Given the description of an element on the screen output the (x, y) to click on. 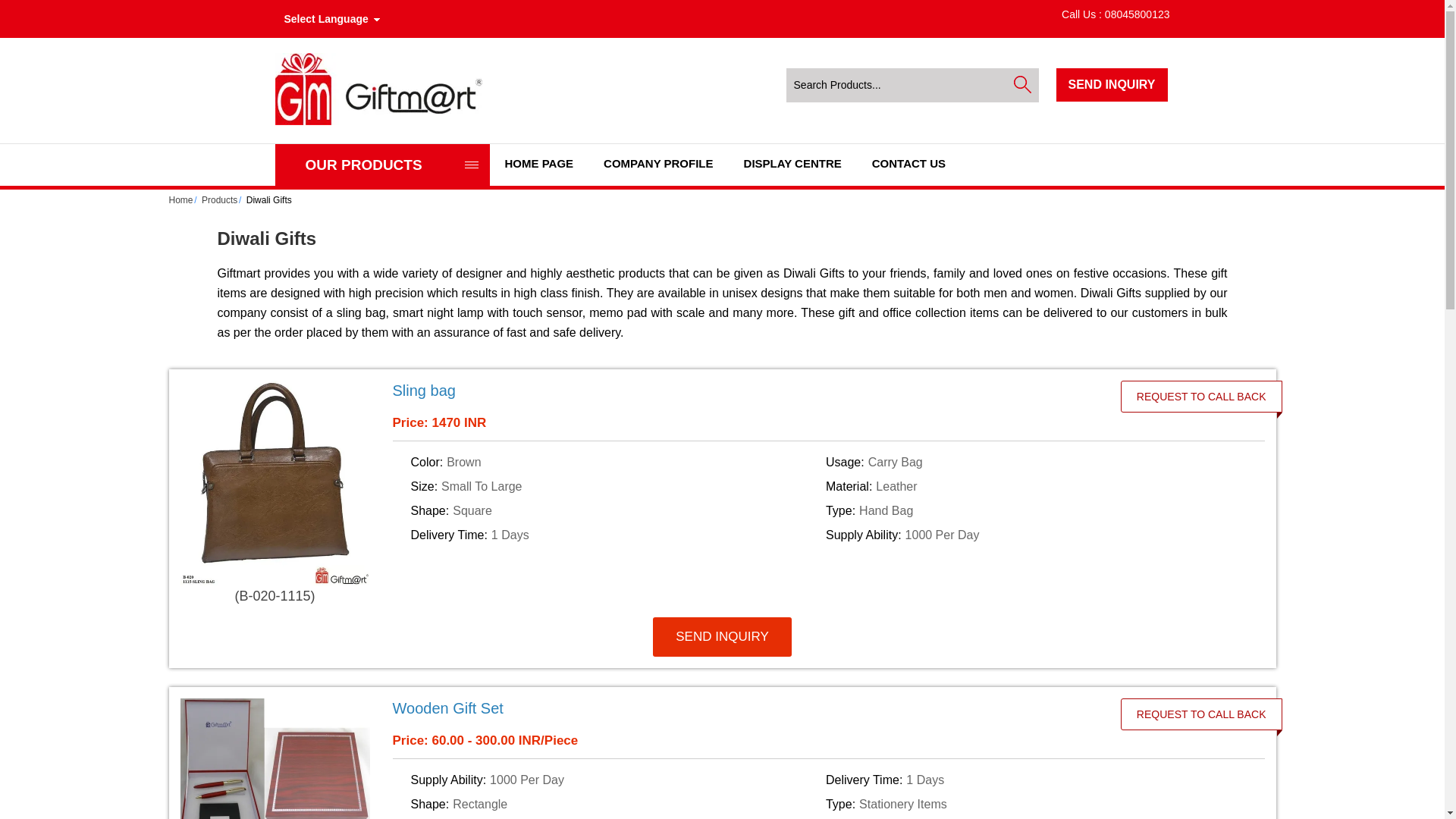
Delivery Time: 1 Days (615, 535)
Delivery Time: 1 Days (1029, 780)
OUR PRODUCTS (382, 164)
Type: Hand Bag (1029, 511)
Select Language (335, 18)
Material: Leather (1029, 486)
SEND INQUIRY (1112, 83)
Search Products... (899, 84)
Supply Ability: 1000 Per Day (1029, 535)
Usage: Carry Bag (1029, 462)
